Given the description of an element on the screen output the (x, y) to click on. 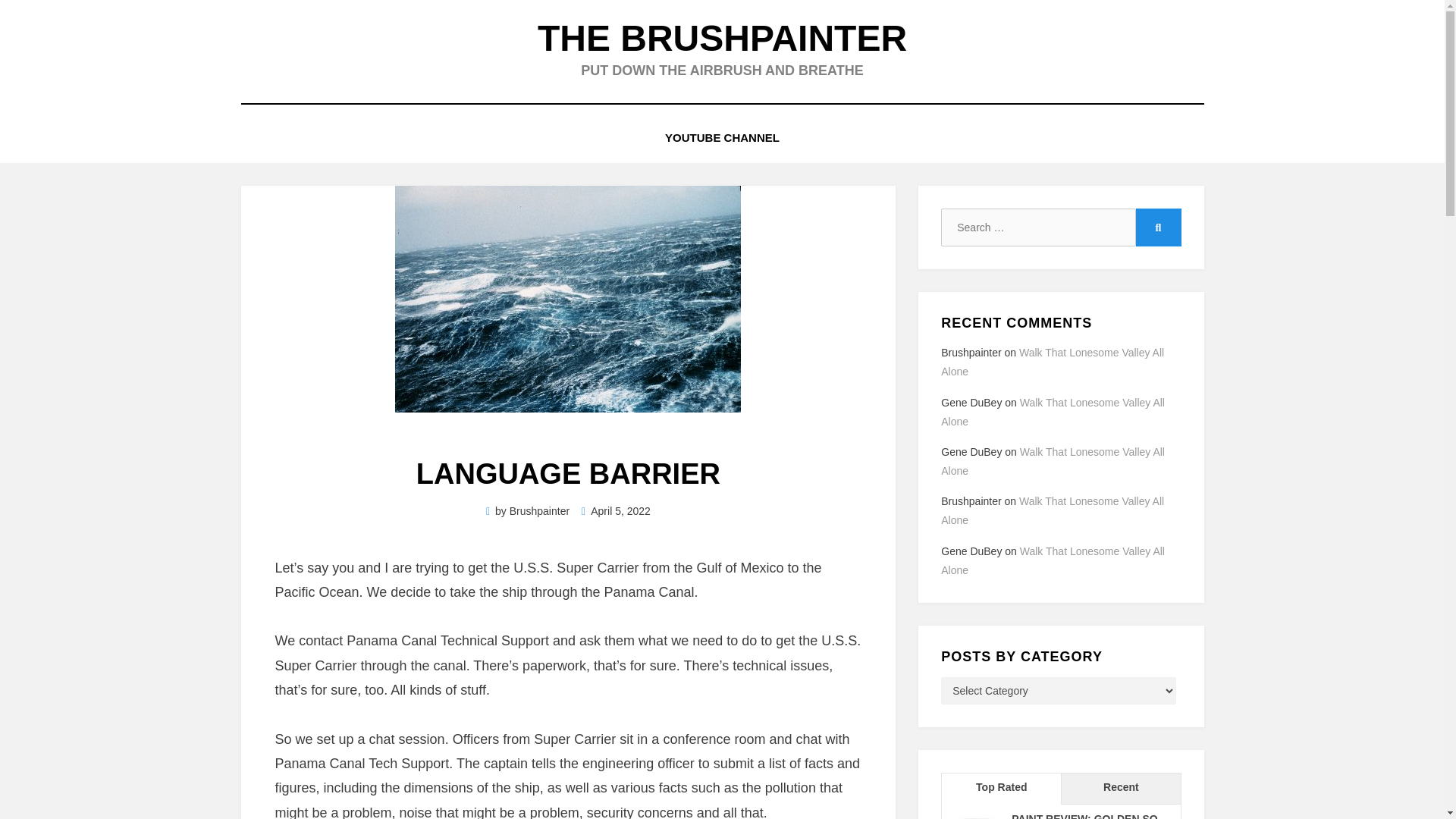
Walk That Lonesome Valley All Alone (1052, 411)
Brushpainter (539, 510)
Walk That Lonesome Valley All Alone (1052, 560)
The Brushpainter (722, 38)
Walk That Lonesome Valley All Alone (1051, 510)
Recent (1120, 788)
Top Rated (1001, 788)
PAINT REVIEW: GOLDEN SO FLAT (1084, 816)
Walk That Lonesome Valley All Alone (1052, 460)
Paint Review: Golden So Flat (1084, 816)
Walk That Lonesome Valley All Alone (1051, 361)
Search (1157, 227)
YOUTUBE CHANNEL (722, 137)
Search for: (1037, 227)
April 5, 2022 (615, 510)
